Given the description of an element on the screen output the (x, y) to click on. 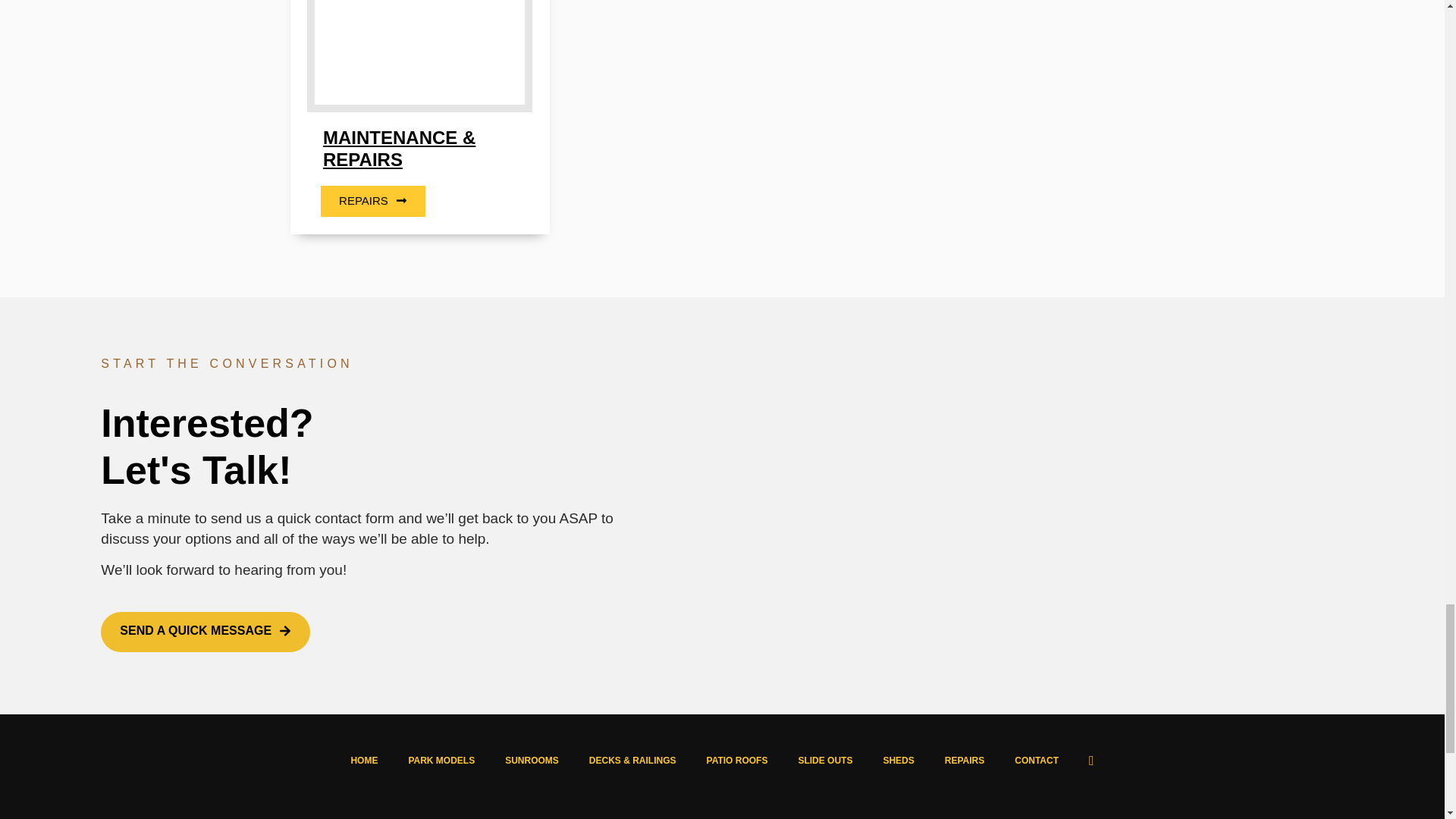
SUNROOMS (531, 760)
SHEDS (897, 760)
SEND A QUICK MESSAGE (205, 631)
CONTACT (1036, 760)
REPAIRS (964, 760)
SLIDE OUTS (825, 760)
PATIO ROOFS (737, 760)
REPAIRS (372, 201)
PARK MODELS (441, 760)
HOME (363, 760)
